Given the description of an element on the screen output the (x, y) to click on. 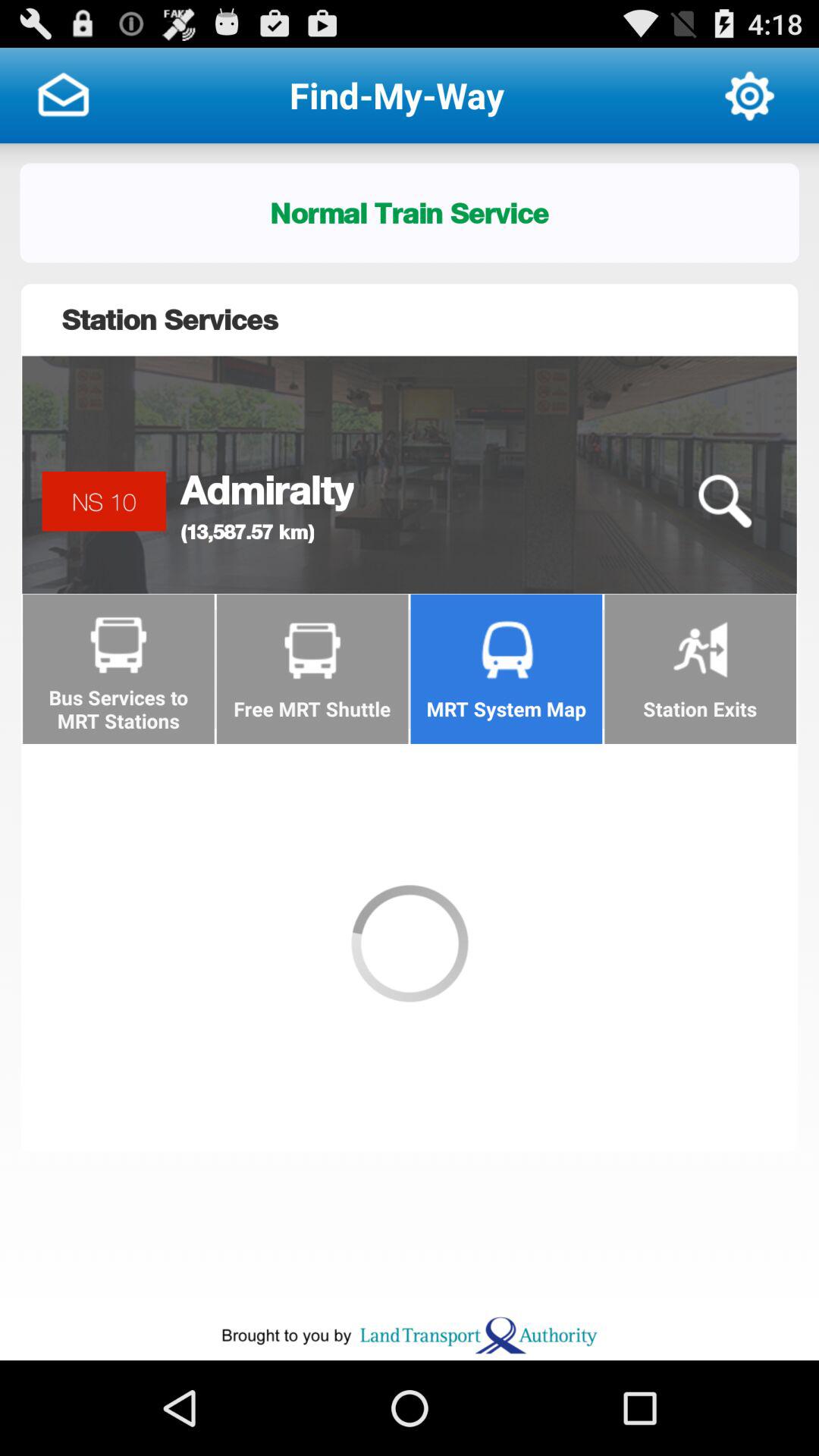
search more (724, 501)
